Given the description of an element on the screen output the (x, y) to click on. 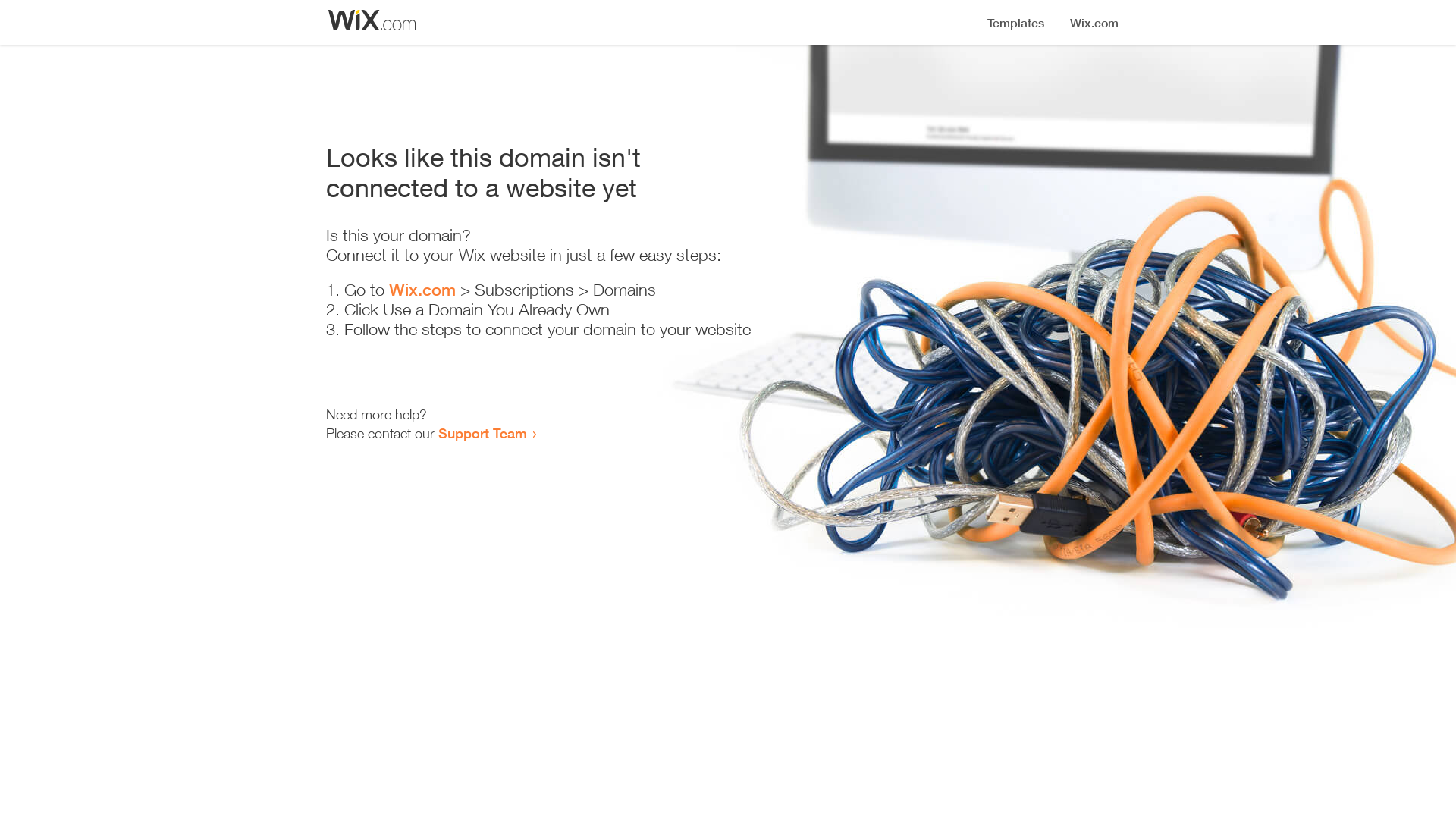
Support Team Element type: text (482, 432)
Wix.com Element type: text (422, 289)
